Given the description of an element on the screen output the (x, y) to click on. 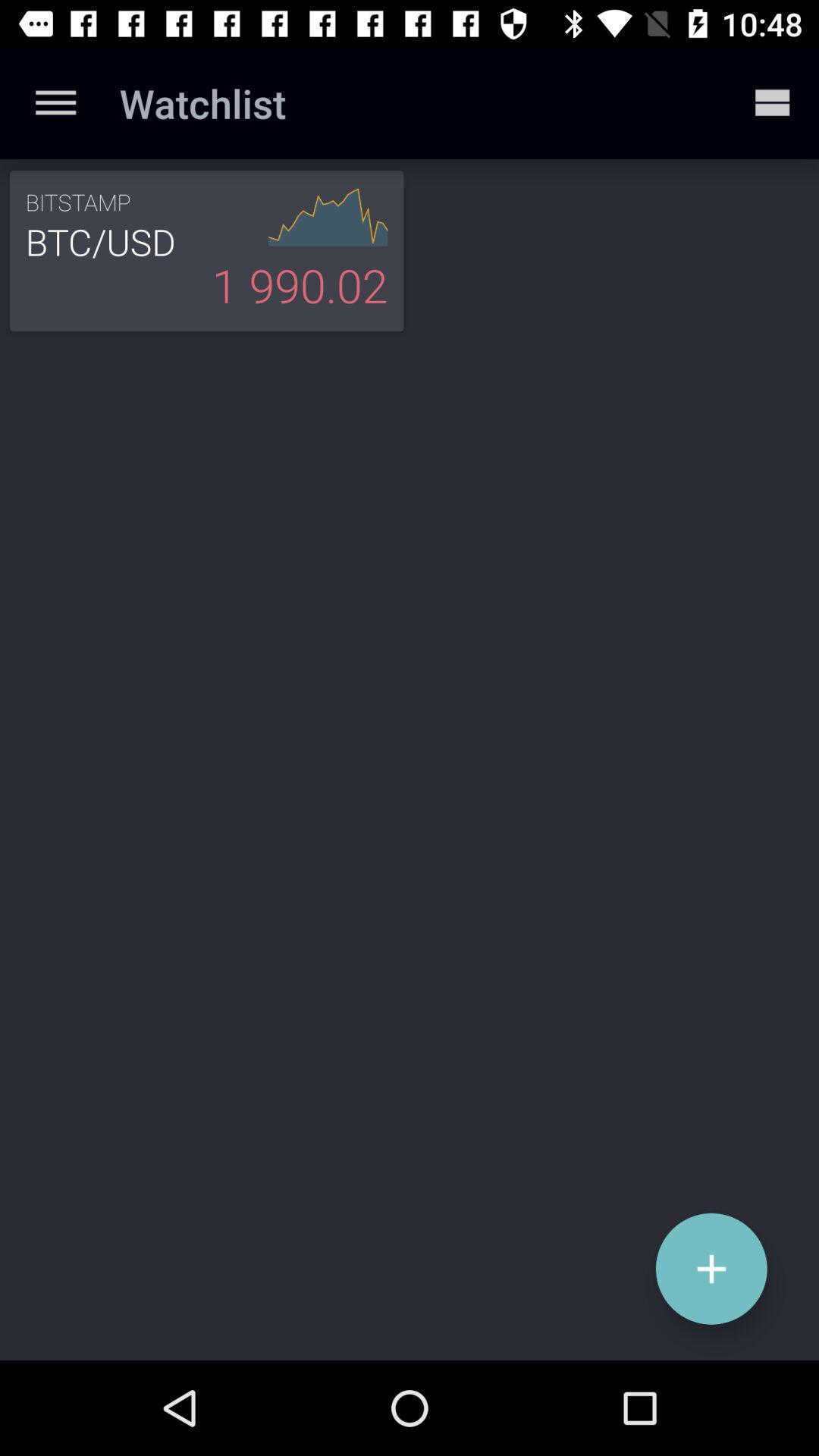
turn off the item above the bitstamp item (55, 103)
